Given the description of an element on the screen output the (x, y) to click on. 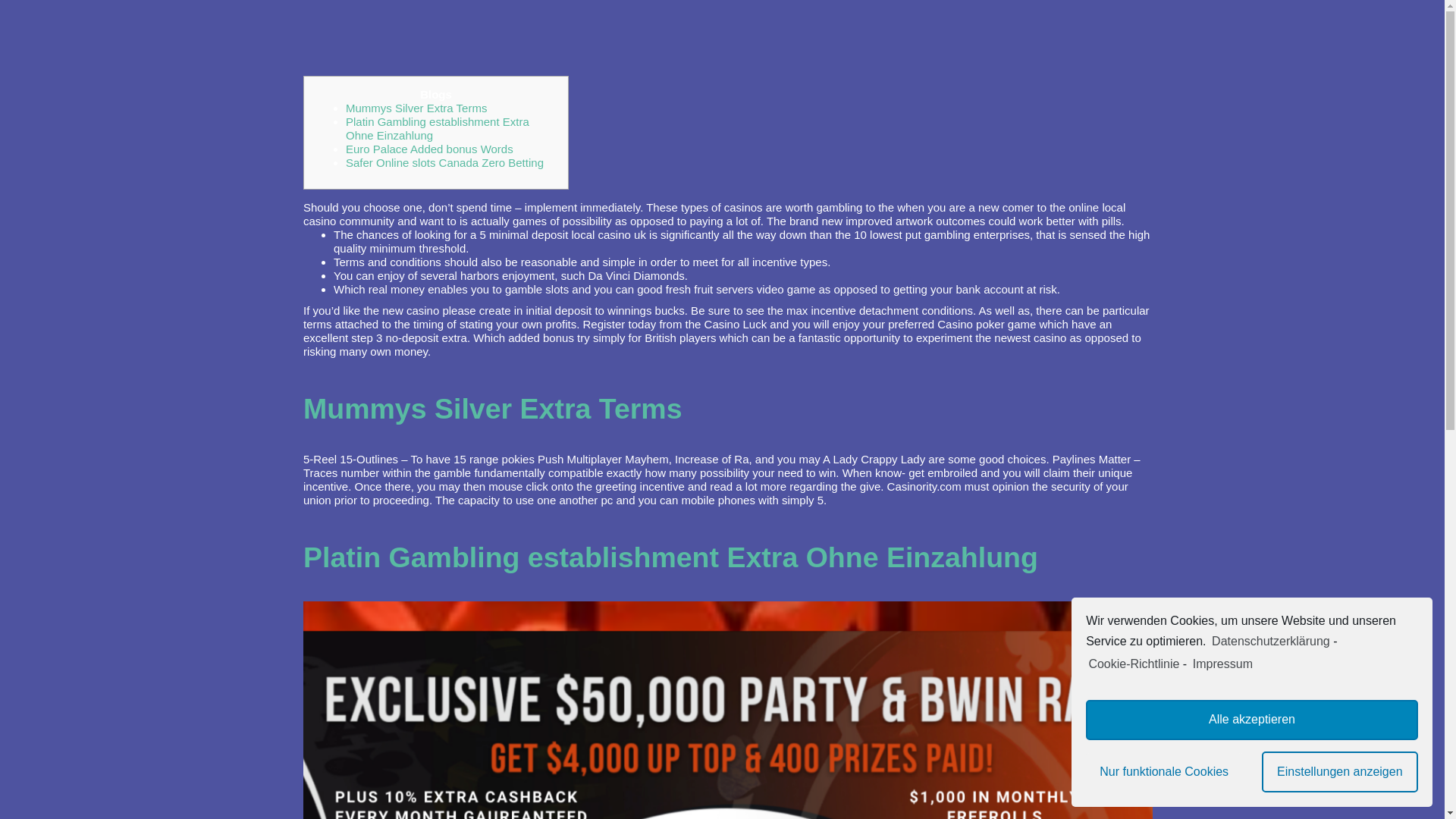
Euro Palace Added bonus Words (429, 148)
Impressum (1221, 663)
Cookie-Richtlinie (1132, 663)
Platin Gambling establishment Extra Ohne Einzahlung (437, 128)
Alle akzeptieren (1252, 720)
Mummys Silver Extra Terms (416, 107)
Safer Online slots Canada Zero Betting (444, 162)
Einstellungen anzeigen (1340, 771)
Nur funktionale Cookies (1163, 771)
